Given the description of an element on the screen output the (x, y) to click on. 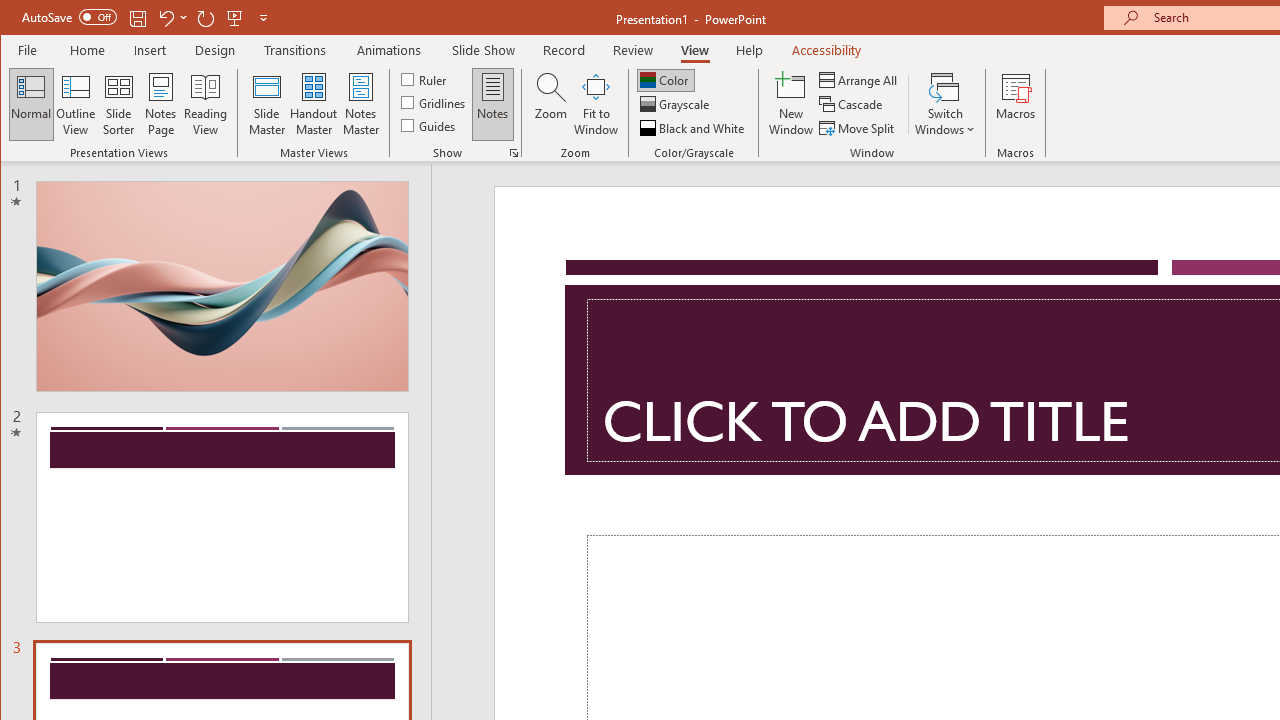
Handout Master (314, 104)
Fit to Window (596, 104)
Grayscale (676, 103)
Switch Windows (944, 104)
Zoom... (550, 104)
Black and White (694, 127)
